Given the description of an element on the screen output the (x, y) to click on. 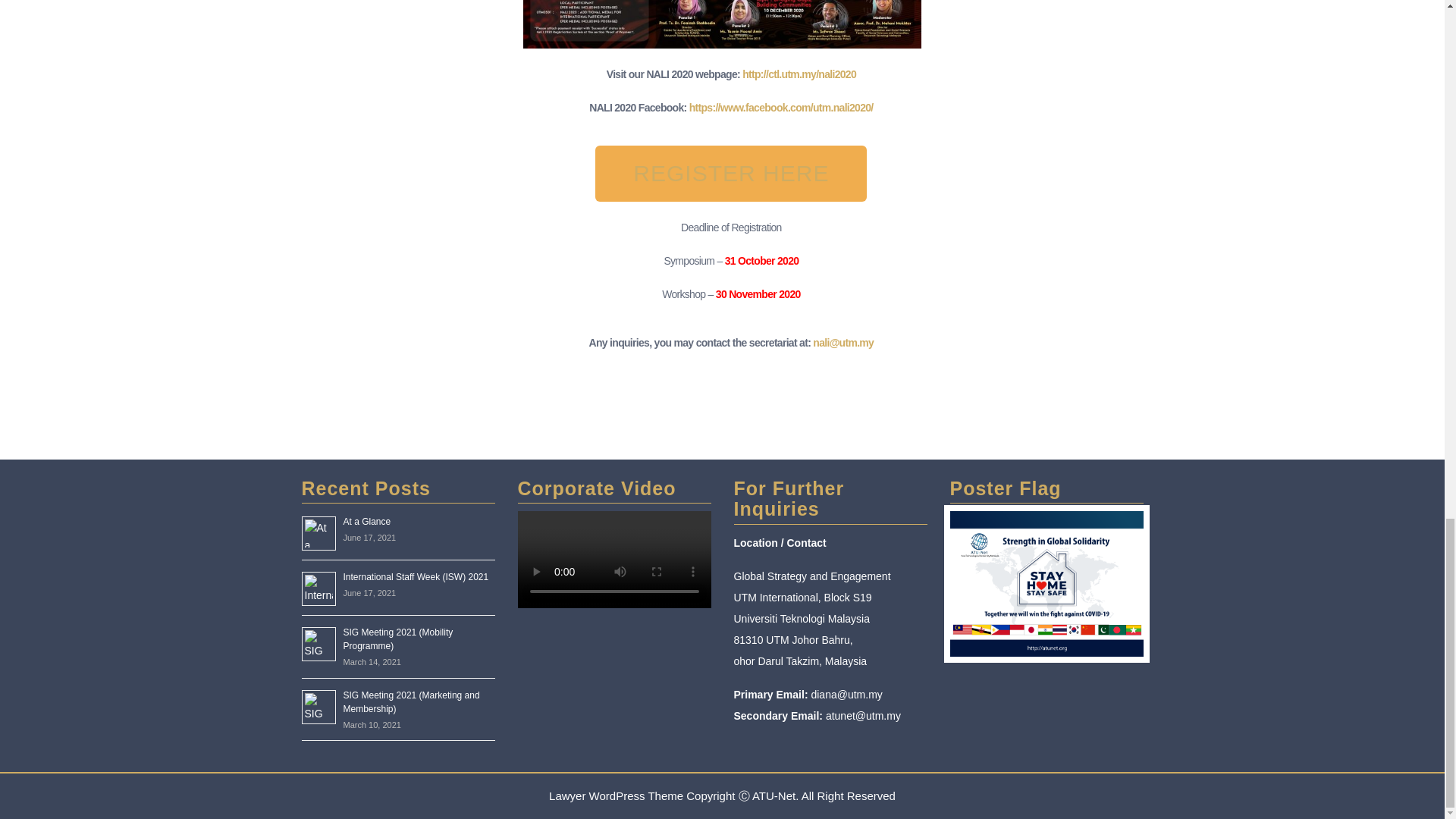
Poster Flag (1045, 583)
REGISTER HERE (730, 173)
Lawyer WordPress Theme (615, 795)
At a Glance (366, 521)
